Given the description of an element on the screen output the (x, y) to click on. 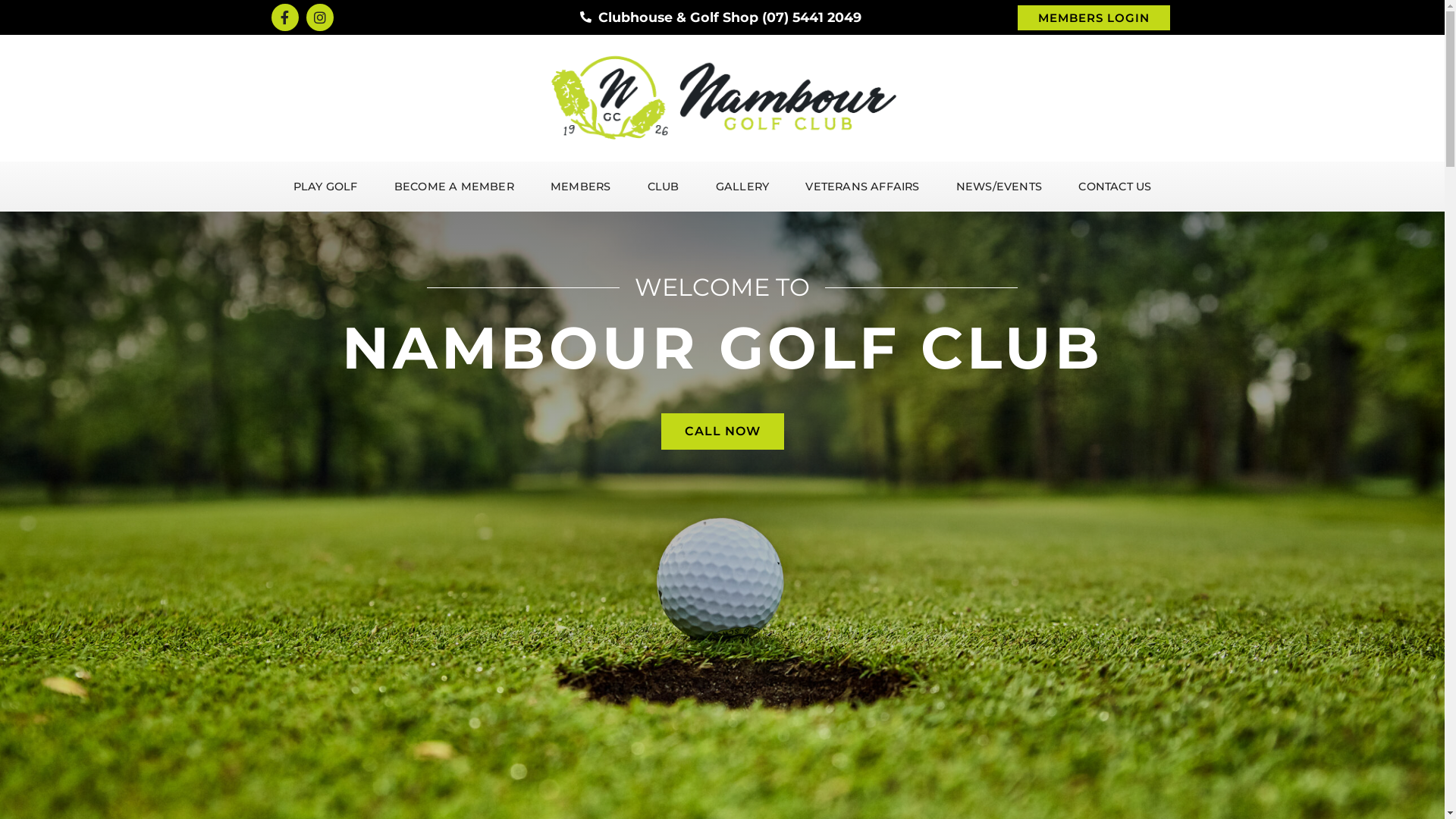
VETERANS AFFAIRS Element type: text (862, 186)
CLUB Element type: text (663, 186)
PLAY GOLF Element type: text (324, 186)
Clubhouse & Golf Shop (07) 5441 2049 Element type: text (720, 17)
MEMBERS LOGIN Element type: text (1093, 16)
GALLERY Element type: text (742, 186)
MEMBERS Element type: text (580, 186)
NEWS/EVENTS Element type: text (999, 186)
CALL NOW Element type: text (722, 431)
BECOME A MEMBER Element type: text (454, 186)
CONTACT US Element type: text (1114, 186)
